Given the description of an element on the screen output the (x, y) to click on. 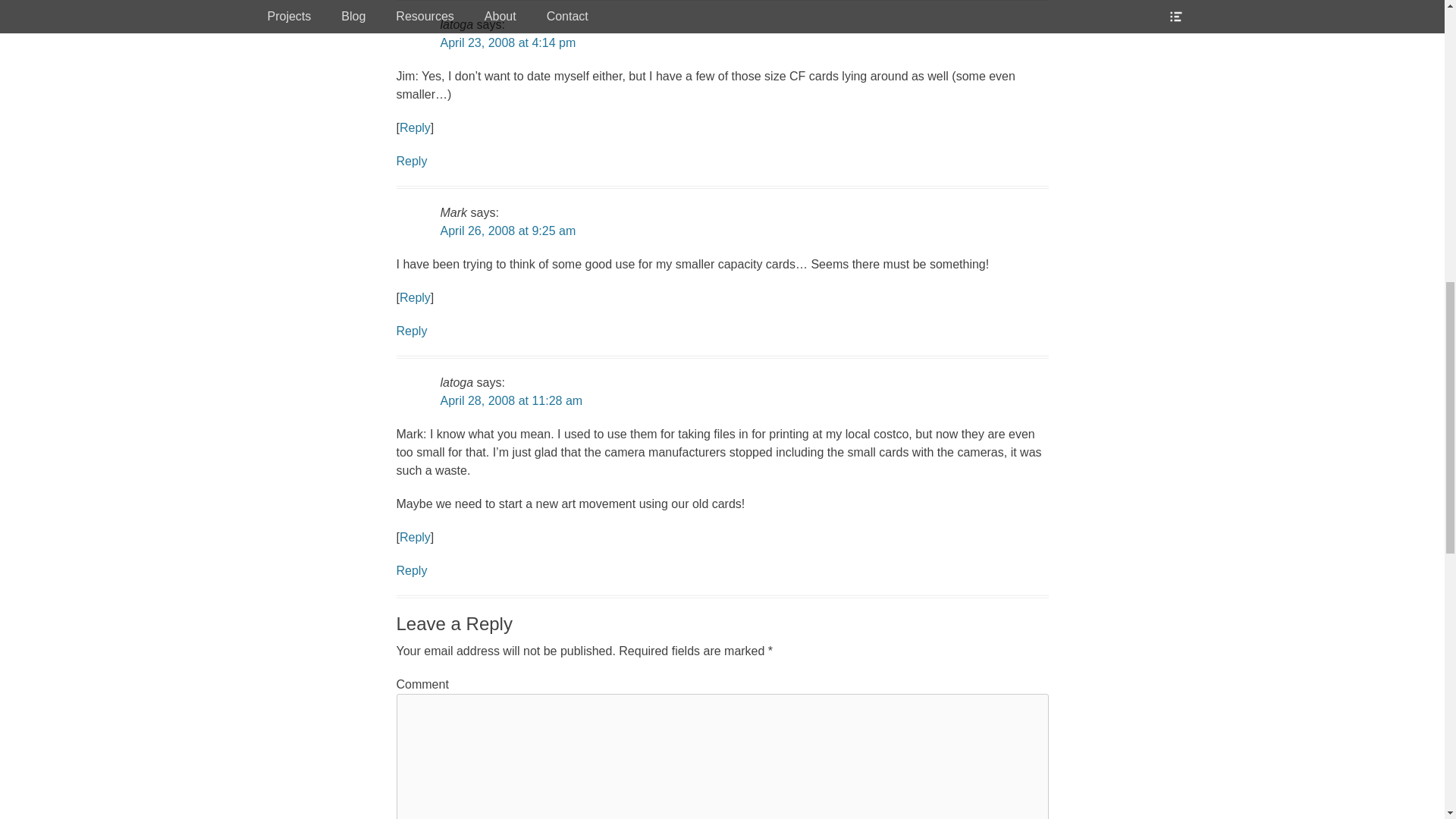
Reply (414, 297)
April 23, 2008 at 4:14 pm (507, 42)
April 26, 2008 at 9:25 am (507, 230)
April 28, 2008 at 11:28 am (510, 400)
Reply (414, 536)
Reply (411, 160)
Reply (411, 330)
Reply (414, 127)
